Given the description of an element on the screen output the (x, y) to click on. 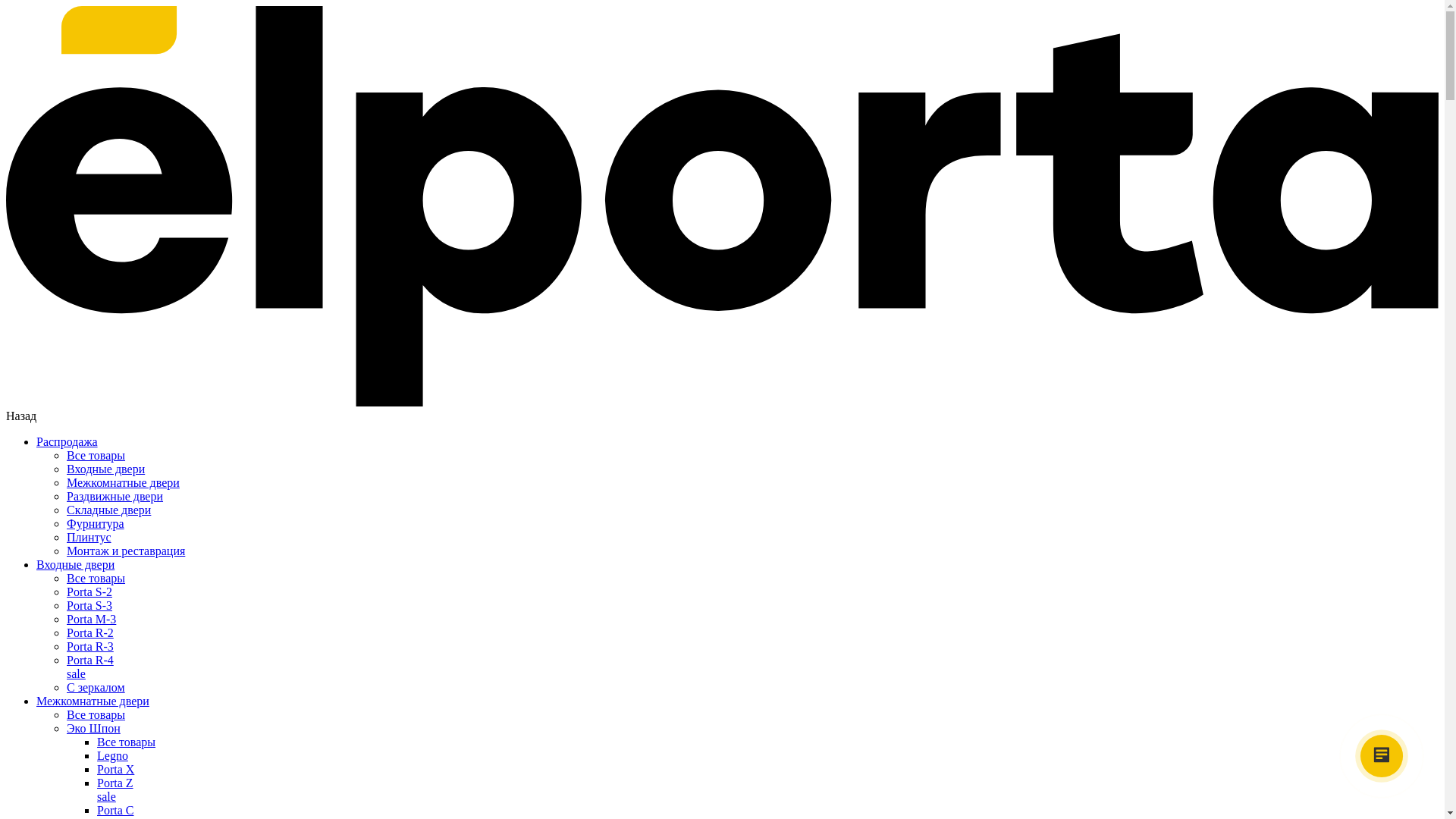
Porta S-3 Element type: text (89, 605)
Porta M-3 Element type: text (91, 618)
Porta R-3 Element type: text (89, 646)
Porta R-4
sale Element type: text (752, 666)
Porta X Element type: text (115, 768)
Porta S-2 Element type: text (89, 591)
Porta Z
sale Element type: text (767, 789)
Legno Element type: text (112, 755)
Porta R-2 Element type: text (89, 632)
